Given the description of an element on the screen output the (x, y) to click on. 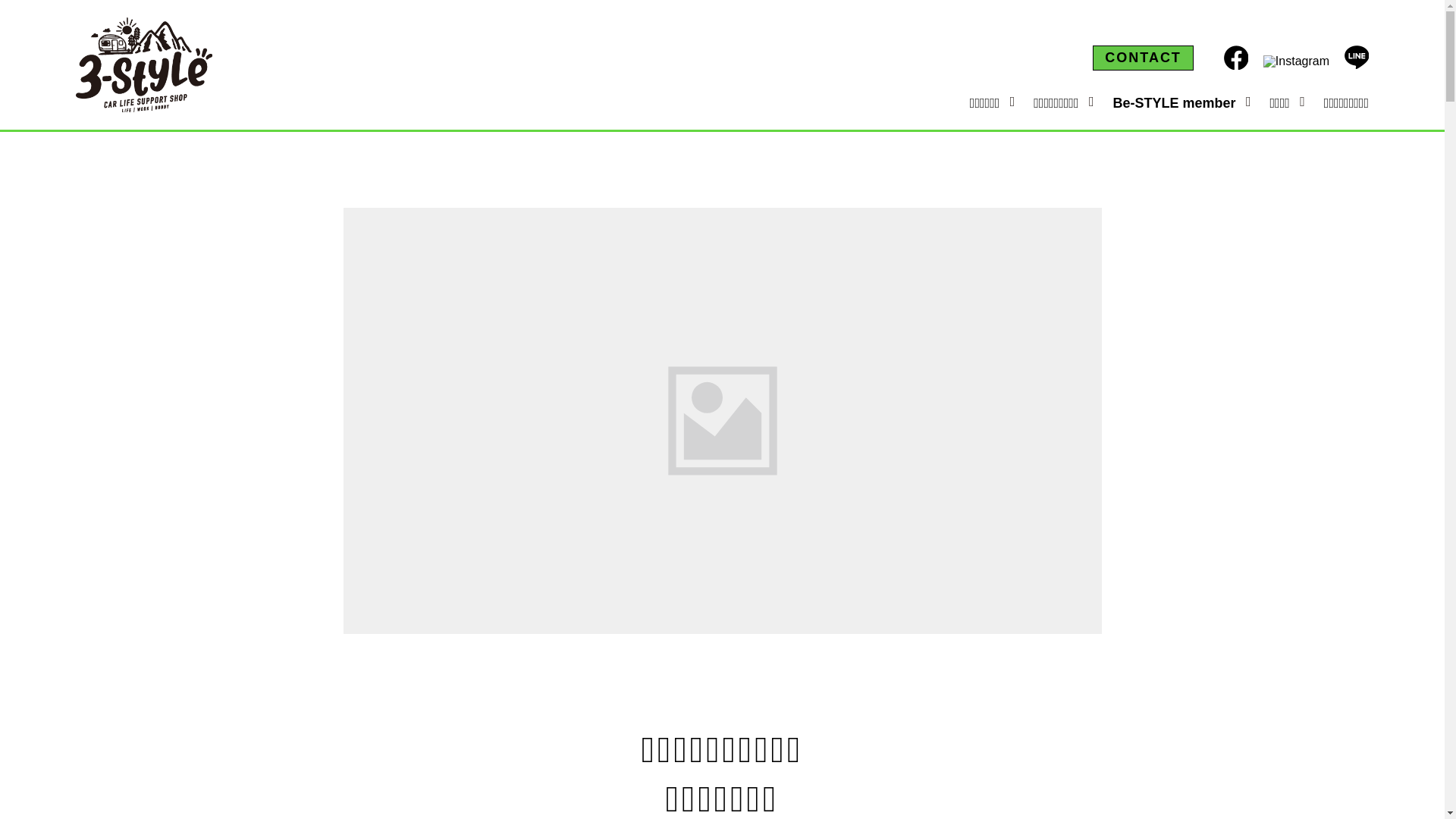
Be-STYLE member Element type: text (1173, 101)
CONTACT Element type: text (1142, 57)
